Given the description of an element on the screen output the (x, y) to click on. 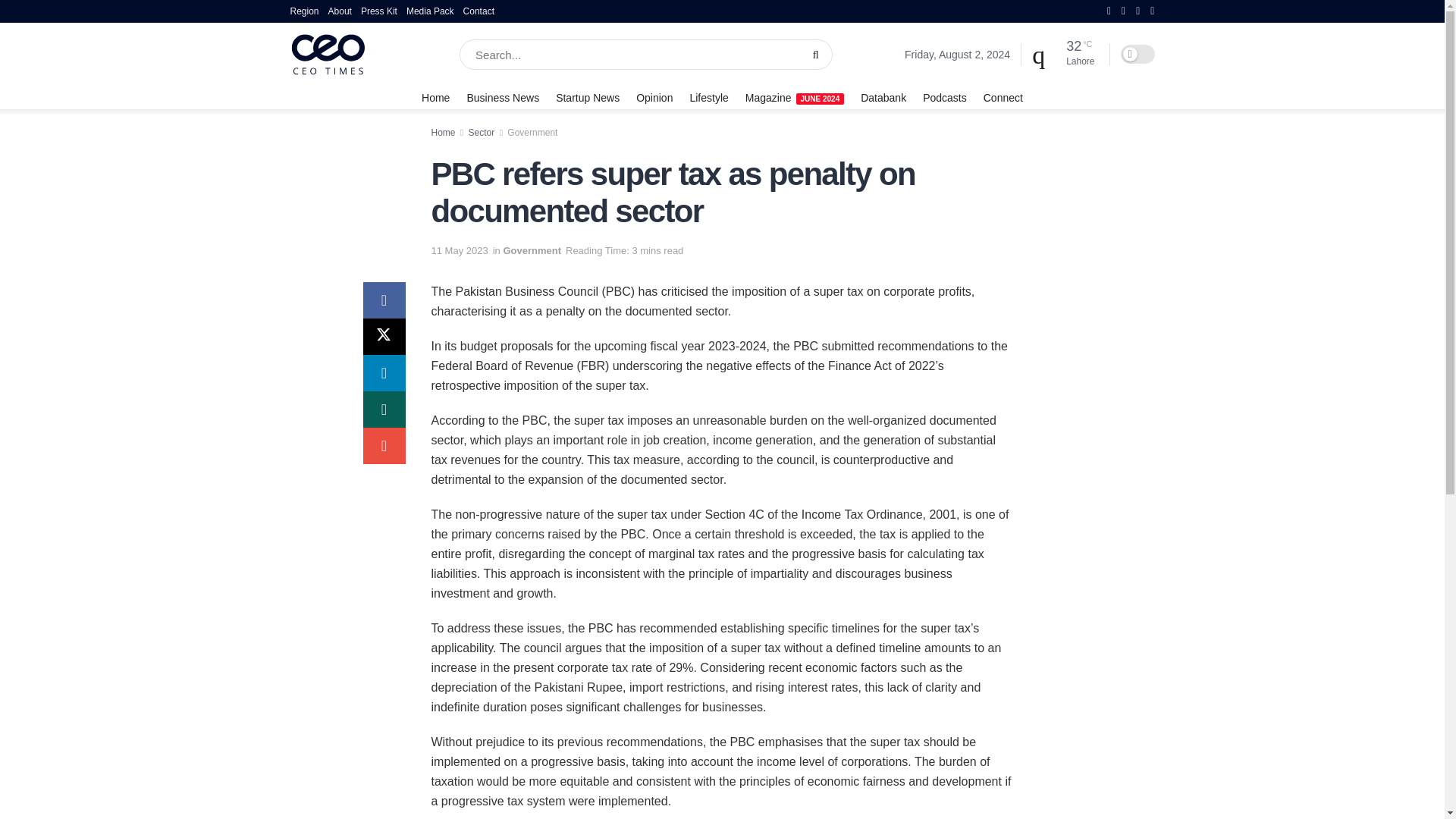
Databank (882, 97)
Business News (501, 97)
Podcasts (944, 97)
Startup News (588, 97)
Opinion (654, 97)
Press Kit (379, 11)
Connect (1003, 97)
Media Pack (430, 11)
Lifestyle (708, 97)
Home (435, 97)
Region (303, 11)
About (340, 11)
MagazineJUNE 2024 (794, 97)
Contact (479, 11)
